Given the description of an element on the screen output the (x, y) to click on. 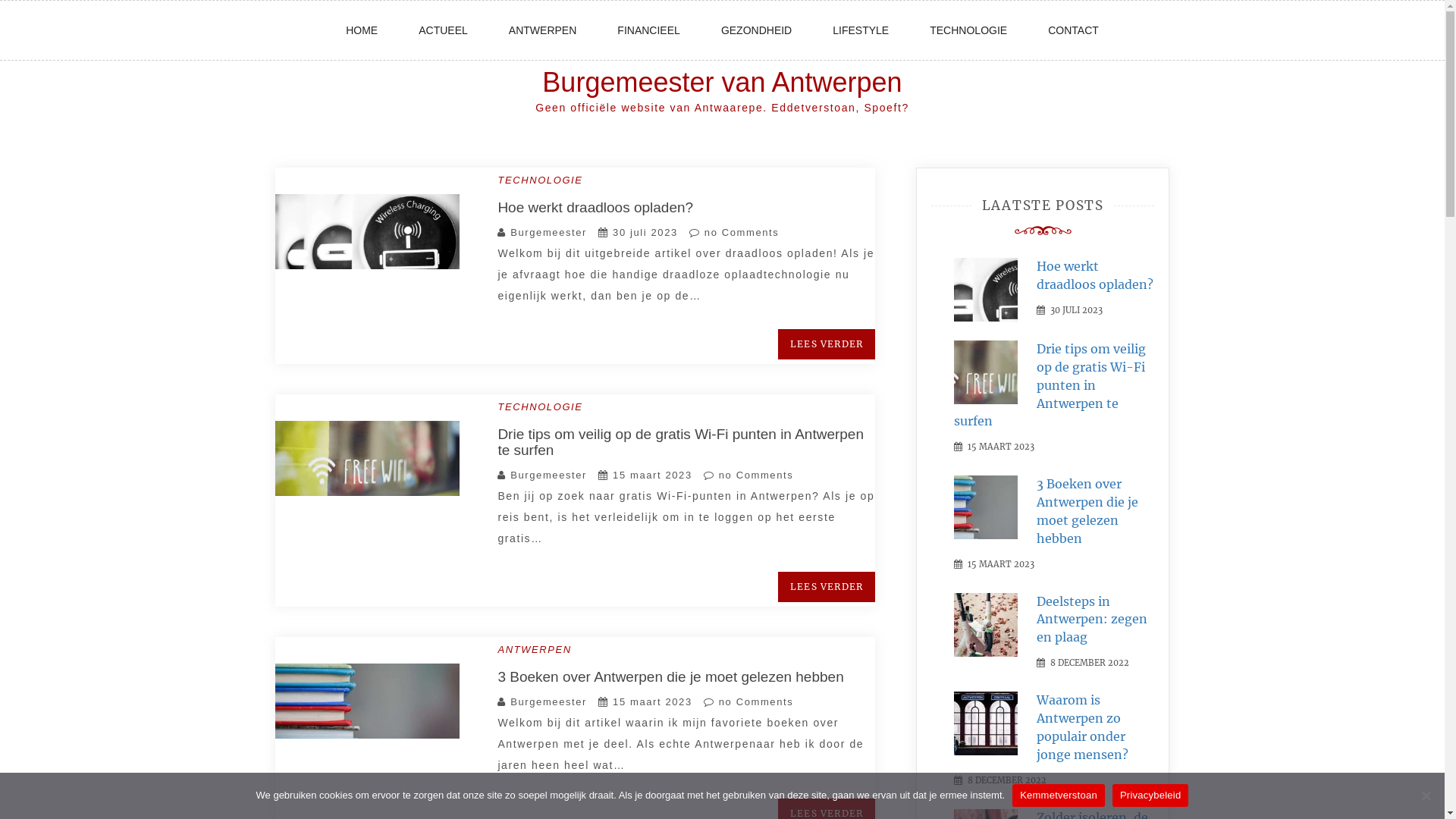
no Comments Element type: text (748, 474)
Burgemeester Element type: text (548, 232)
no Comments Element type: text (733, 232)
TECHNOLOGIE Element type: text (539, 406)
8 DECEMBER 2022 Element type: text (1006, 777)
Waarom is Antwerpen zo populair onder jonge mensen? Element type: text (1082, 727)
15 MAART 2023 Element type: text (1000, 562)
15 maart 2023 Element type: text (652, 701)
Hoe werkt draadloos opladen? Element type: text (595, 207)
Privacybeleid Element type: text (1150, 795)
30 juli 2023 Element type: text (644, 232)
no Comments Element type: text (748, 701)
Nee Element type: hover (1425, 795)
ANTWERPEN Element type: text (534, 649)
FINANCIEEL Element type: text (648, 29)
HOME Element type: text (361, 29)
Burgemeester van Antwerpen Element type: text (721, 81)
ACTUEEL Element type: text (443, 29)
Deelsteps in Antwerpen: zegen en plaag Element type: text (1091, 619)
Burgemeester Element type: text (548, 701)
30 JULI 2023 Element type: text (1076, 308)
GEZONDHEID Element type: text (755, 29)
3 Boeken over Antwerpen die je moet gelezen hebben Element type: text (670, 676)
Kemmetverstoan Element type: text (1058, 795)
15 maart 2023 Element type: text (652, 474)
LIFESTYLE Element type: text (860, 29)
3 Boeken over Antwerpen die je moet gelezen hebben Element type: text (1087, 511)
TECHNOLOGIE Element type: text (539, 179)
LEES VERDER Element type: text (826, 586)
15 MAART 2023 Element type: text (1000, 444)
Burgemeester Element type: text (548, 474)
ANTWERPEN Element type: text (542, 29)
TECHNOLOGIE Element type: text (968, 29)
CONTACT Element type: text (1073, 29)
Hoe werkt draadloos opladen? Element type: text (1094, 274)
LEES VERDER Element type: text (826, 344)
8 DECEMBER 2022 Element type: text (1089, 660)
